Given the description of an element on the screen output the (x, y) to click on. 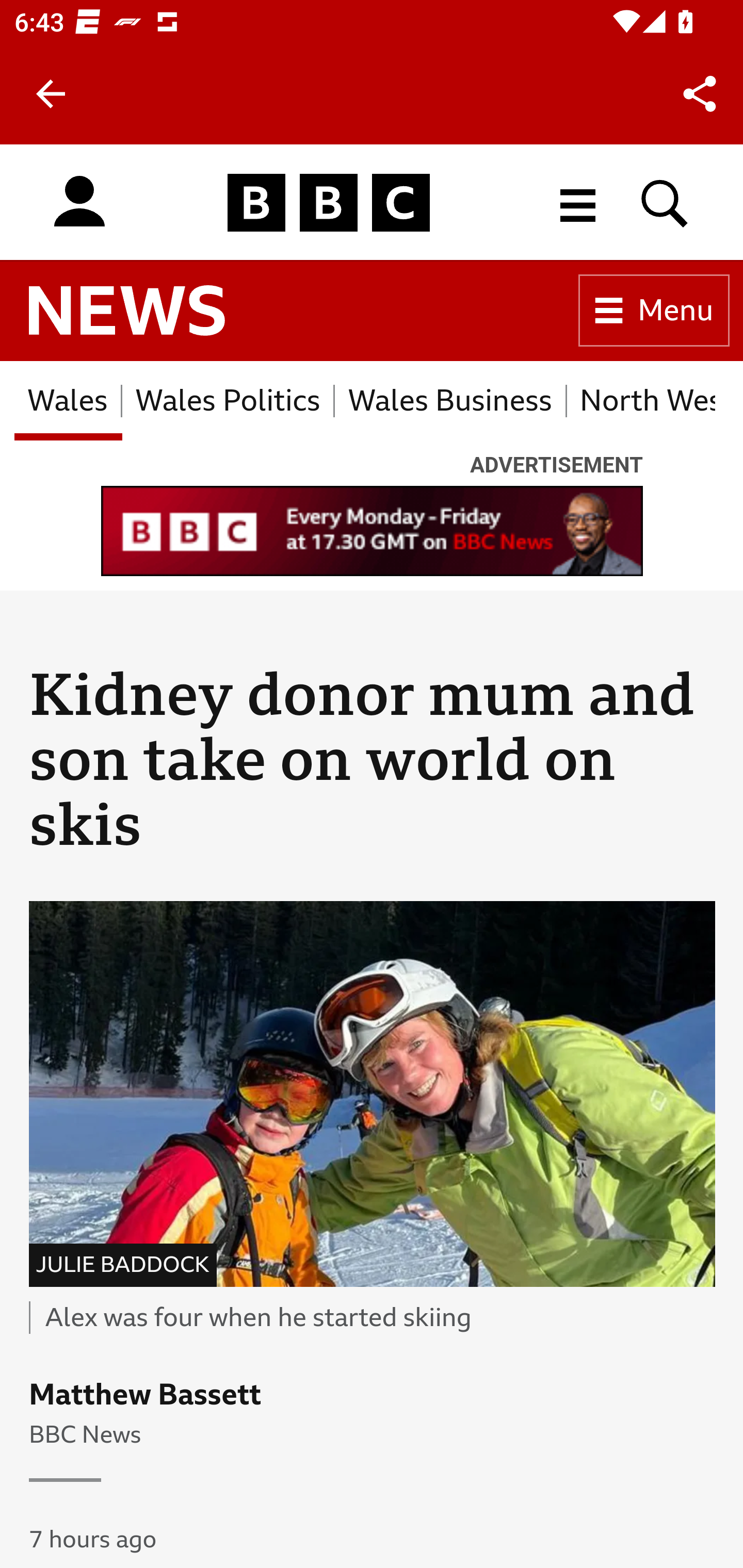
Back (50, 93)
Share (699, 93)
Sign in (79, 202)
BBC Homepage (329, 202)
More menu (578, 202)
Search BBC (665, 202)
BBC News (126, 311)
Menu (654, 311)
Wales (68, 400)
Wales Politics (227, 400)
Wales Business (449, 400)
North West (640, 400)
